Given the description of an element on the screen output the (x, y) to click on. 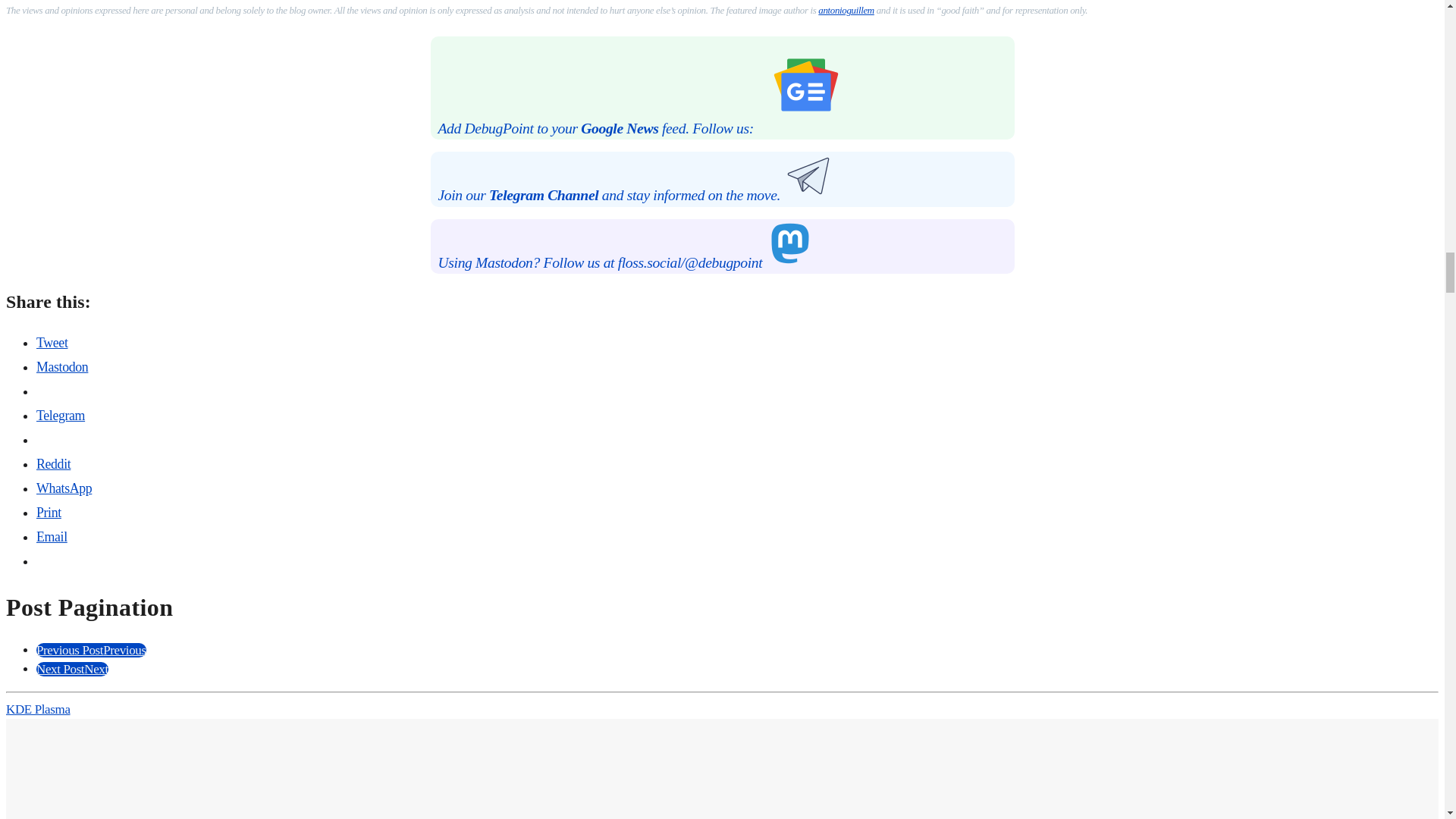
Click to share on Mastodon (61, 366)
Click to print (48, 512)
Click to share on Telegram (60, 415)
Click to share on Reddit (52, 463)
Click to share on WhatsApp (63, 488)
Click to email a link to a friend (51, 536)
